Given the description of an element on the screen output the (x, y) to click on. 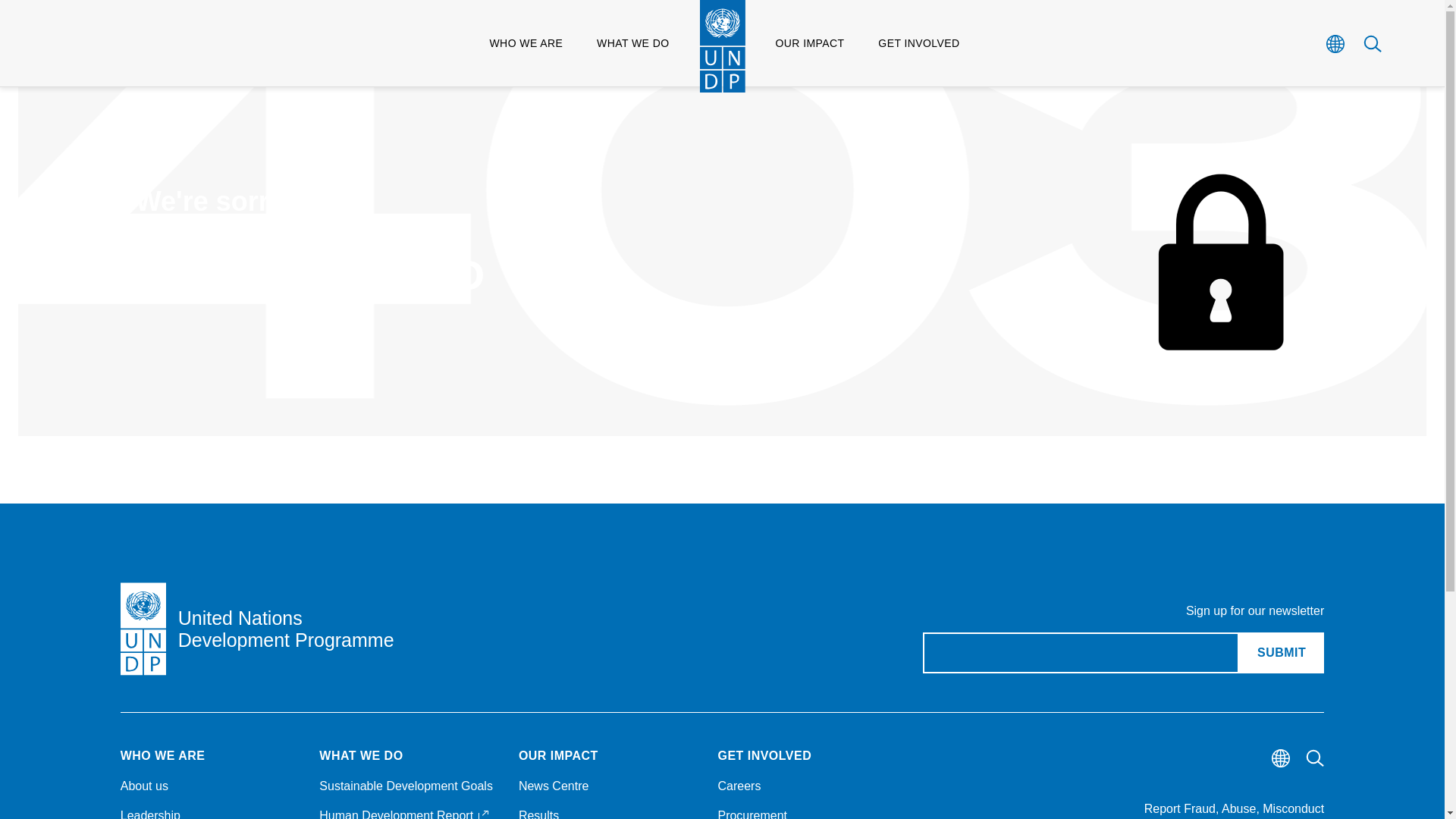
Global (1371, 43)
HOME (1335, 43)
Submit (149, 122)
GET INVOLVED (1281, 652)
